Given the description of an element on the screen output the (x, y) to click on. 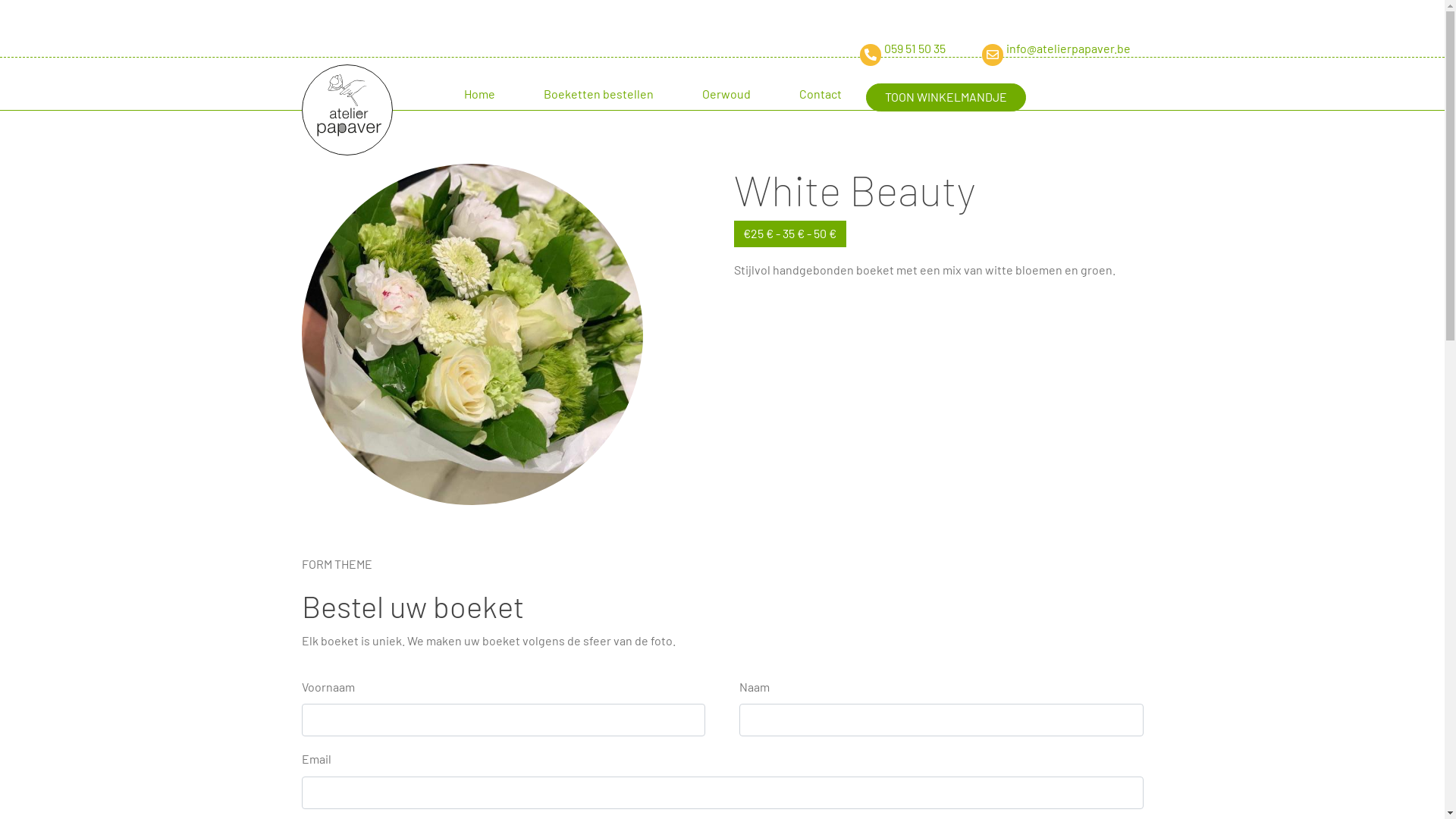
059 51 50 35 Element type: text (884, 48)
Home Element type: text (479, 103)
Oerwoud Element type: text (726, 103)
Contact Element type: text (820, 103)
Boeketten bestellen Element type: text (597, 103)
info@atelierpapaver.be Element type: text (1036, 48)
TOON WINKELMANDJE Element type: text (946, 97)
